Given the description of an element on the screen output the (x, y) to click on. 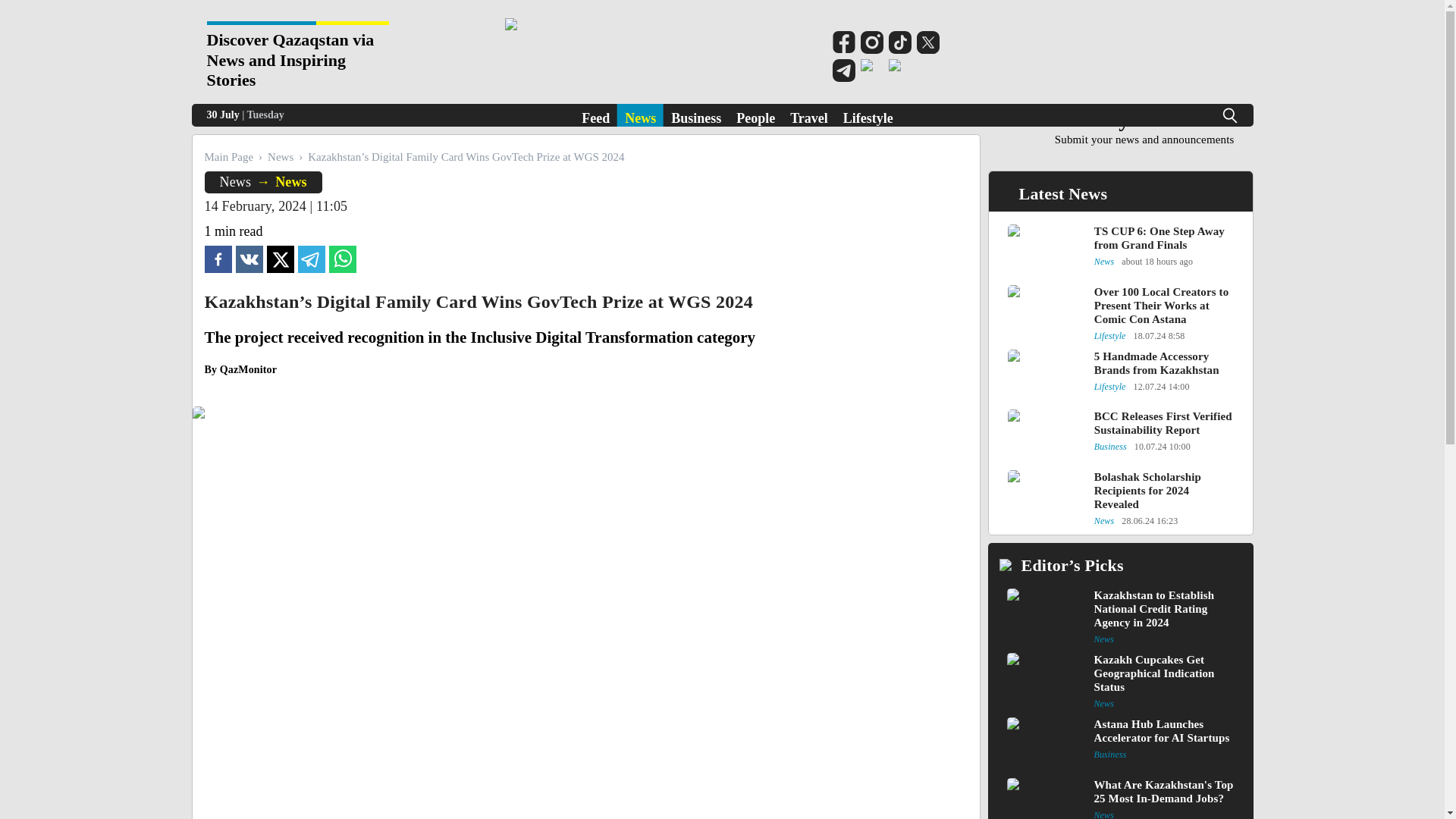
Business (696, 115)
News (280, 156)
Feed (595, 115)
News (640, 115)
People (756, 115)
News (1144, 126)
Travel (291, 181)
News (809, 115)
Lifestyle (235, 181)
Main Page (868, 115)
